Given the description of an element on the screen output the (x, y) to click on. 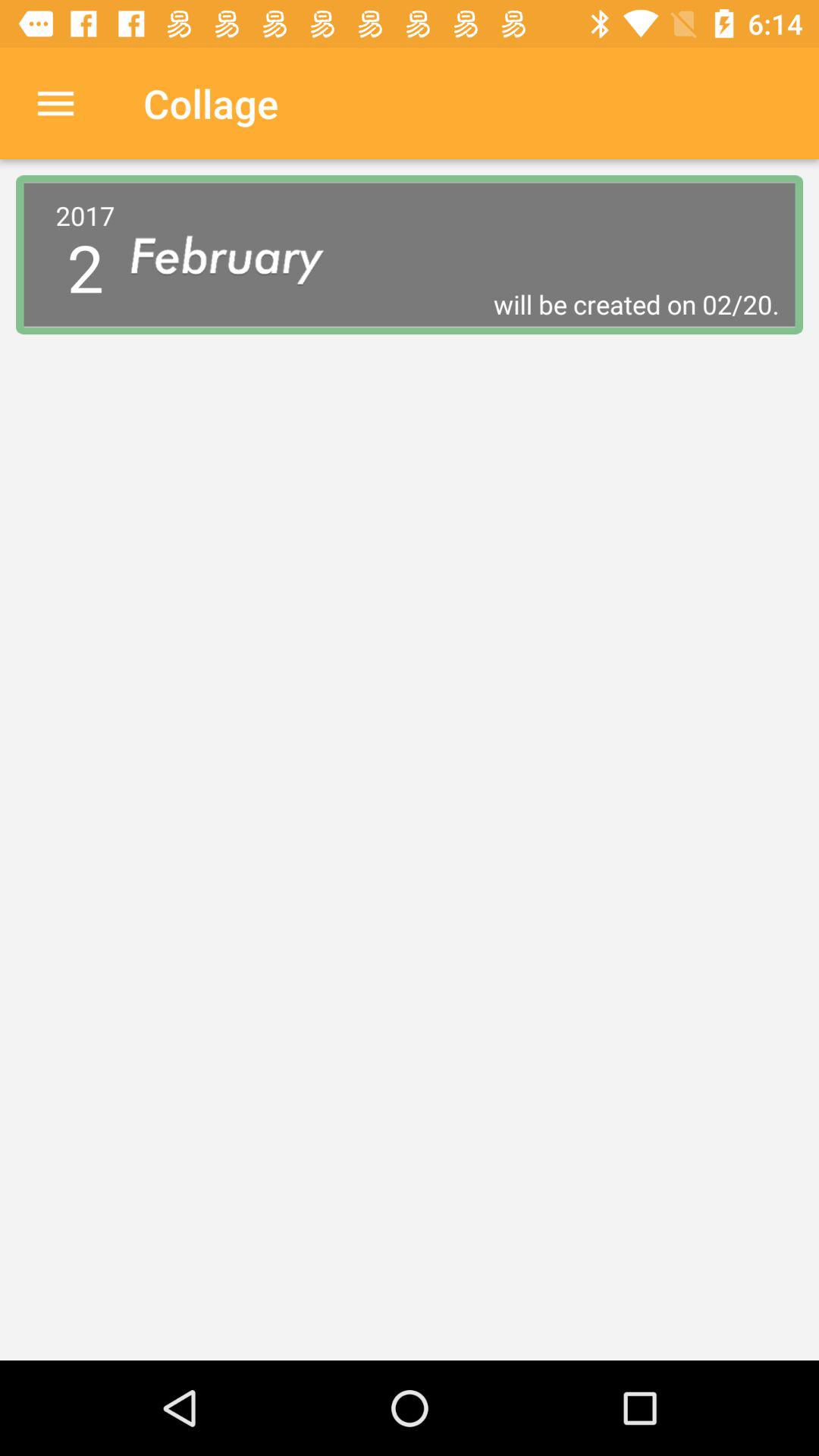
launch icon to the right of 2017
2 icon (239, 254)
